Given the description of an element on the screen output the (x, y) to click on. 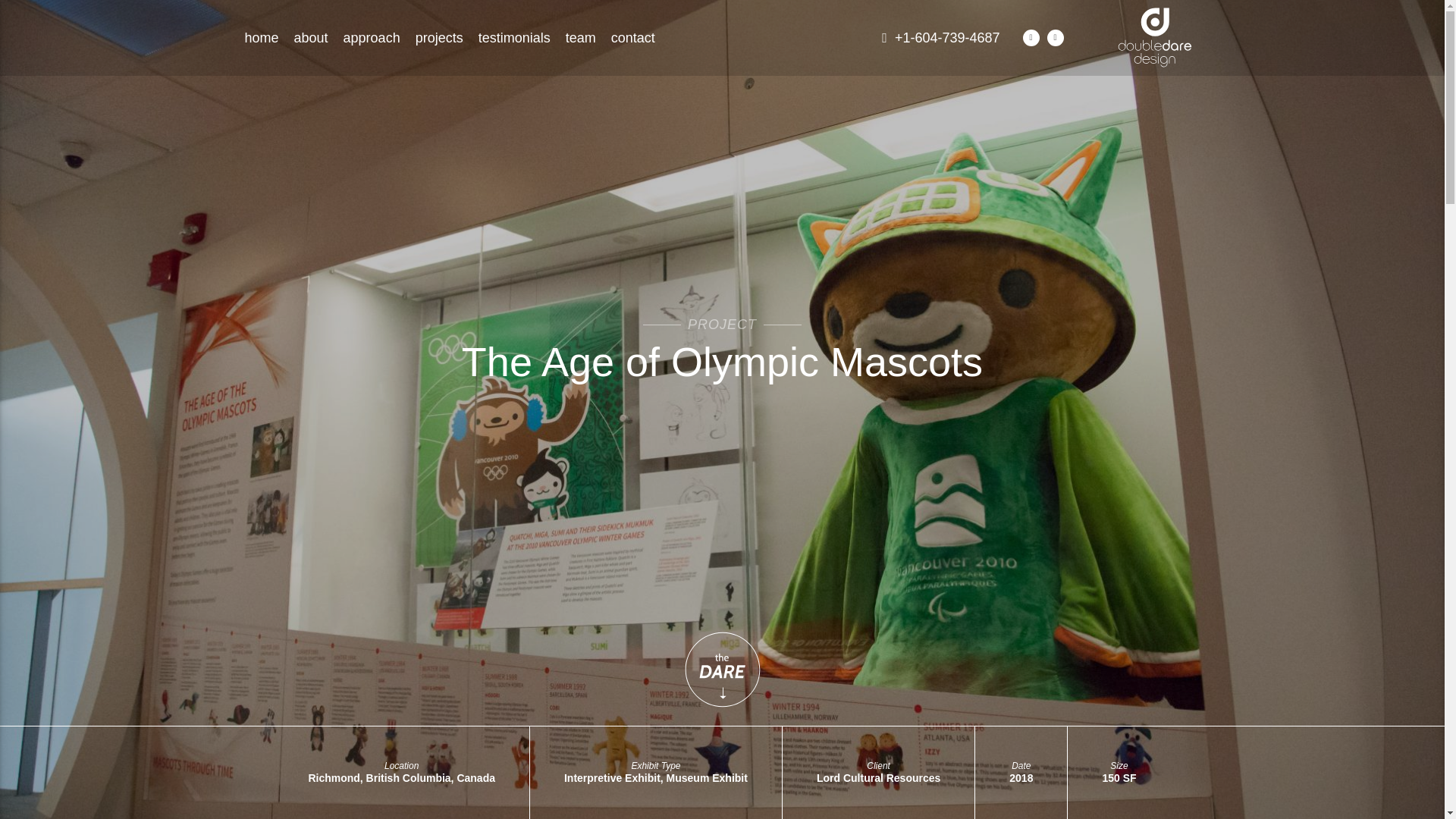
View The Dare (722, 668)
Double Dare Design (1155, 25)
testimonials (513, 34)
linkedin (1030, 35)
projects (438, 33)
approach (371, 32)
Double Dare Design (1155, 37)
facebook (1054, 36)
